Given the description of an element on the screen output the (x, y) to click on. 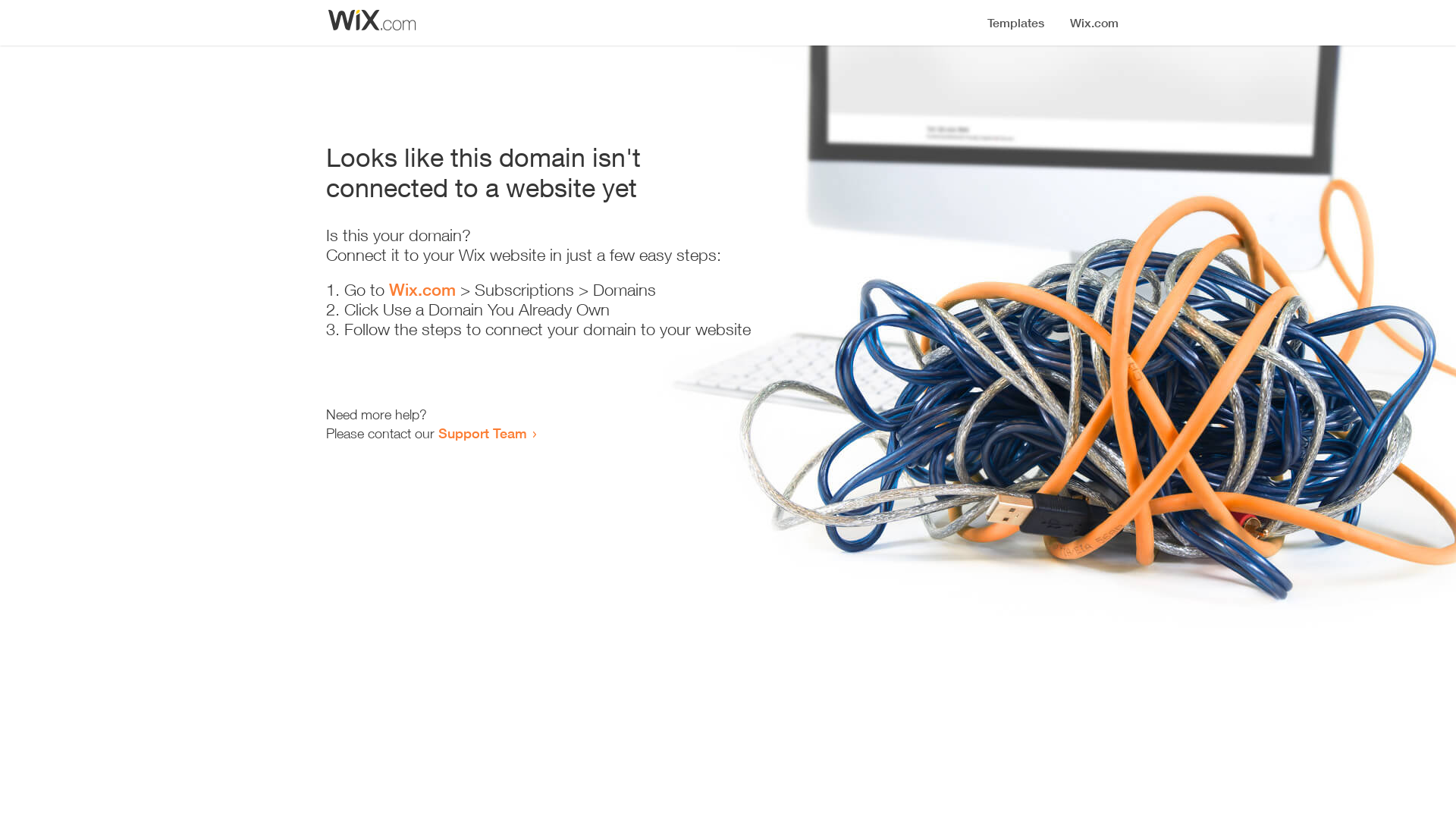
Support Team Element type: text (482, 432)
Wix.com Element type: text (422, 289)
